Given the description of an element on the screen output the (x, y) to click on. 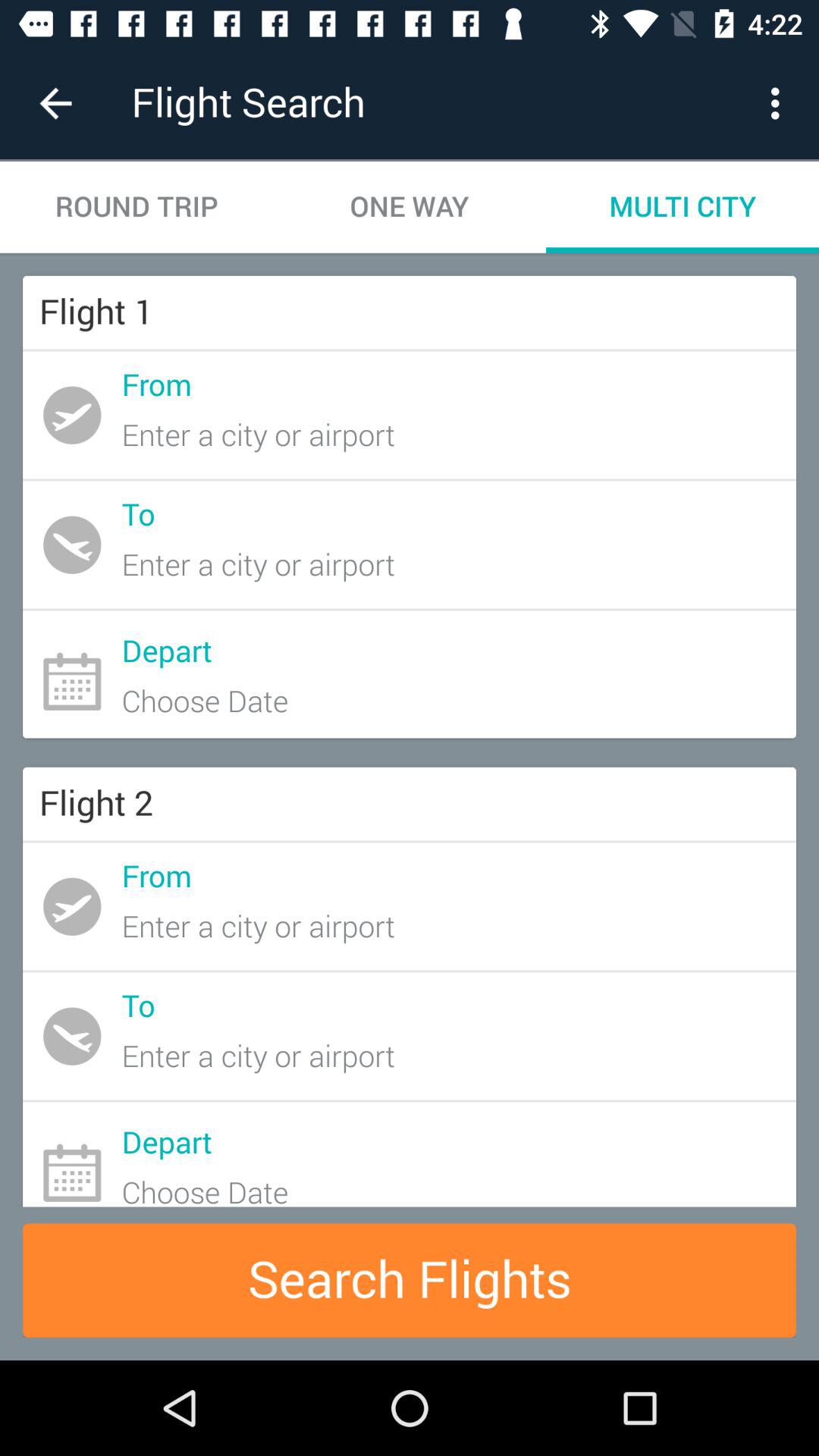
turn off the icon to the left of the flight search item (55, 103)
